Given the description of an element on the screen output the (x, y) to click on. 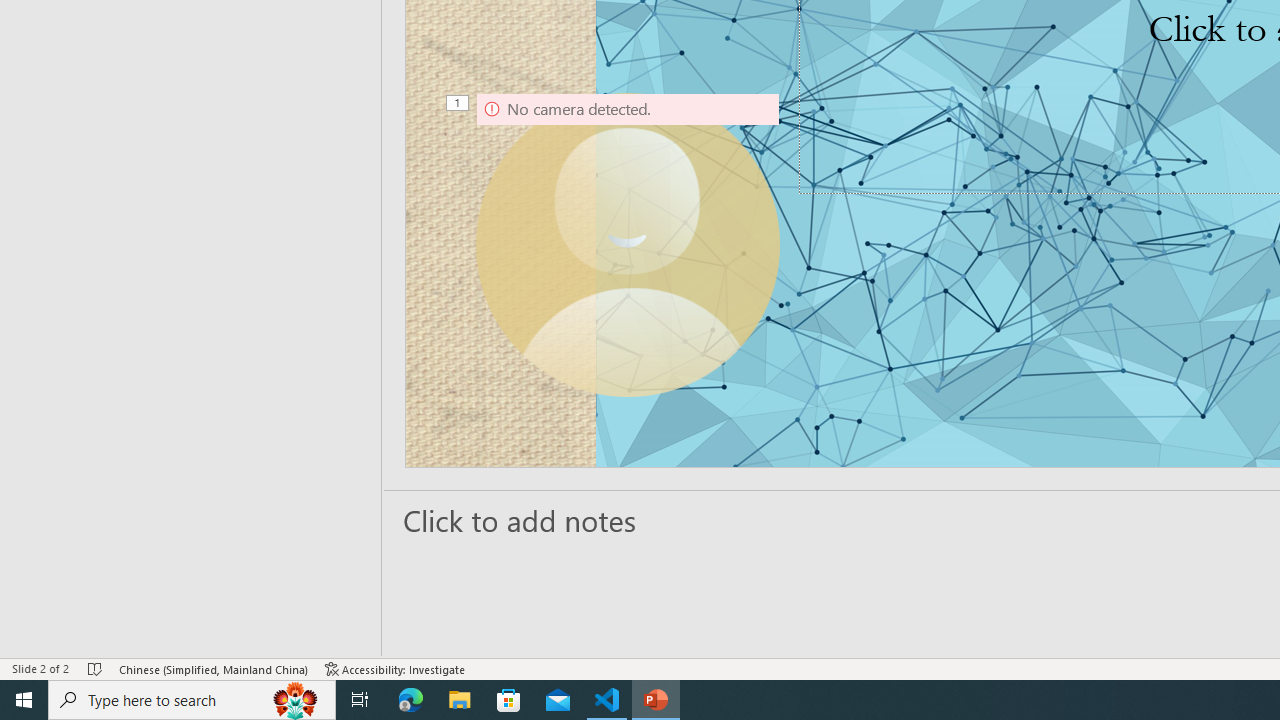
Animation, sequence 1, on Camera 9 (458, 104)
